Given the description of an element on the screen output the (x, y) to click on. 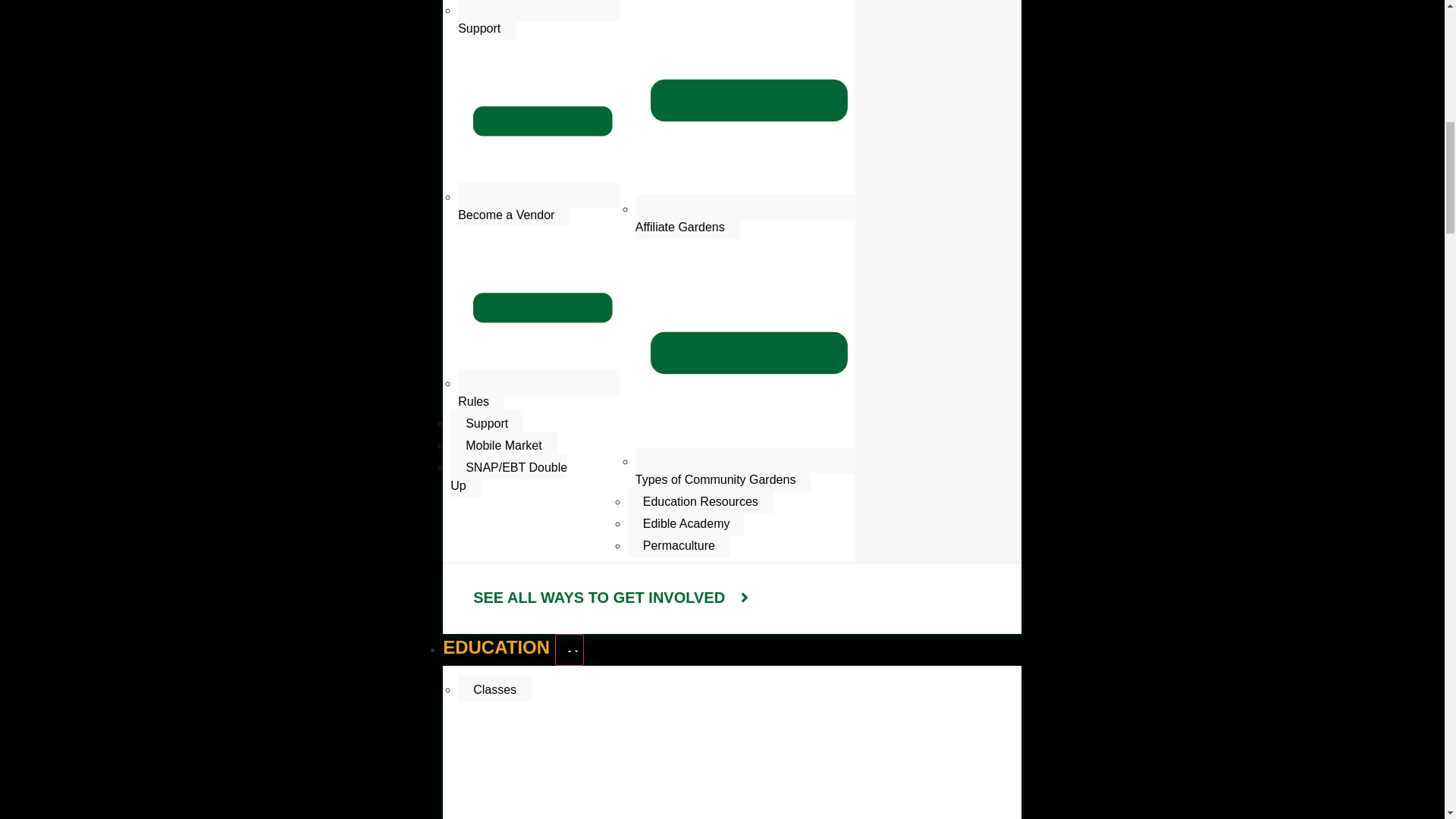
Types of Community Gardens (745, 469)
Mobile Market (502, 444)
Support (485, 421)
Affiliate Gardens (745, 216)
Education Resources (700, 500)
EDUCATION (498, 647)
Permaculture (678, 544)
Rules (539, 391)
Support (539, 20)
Become a Vendor (539, 204)
SEE ALL WAYS TO GET INVOLVED (612, 598)
Edible Academy (686, 522)
